Given the description of an element on the screen output the (x, y) to click on. 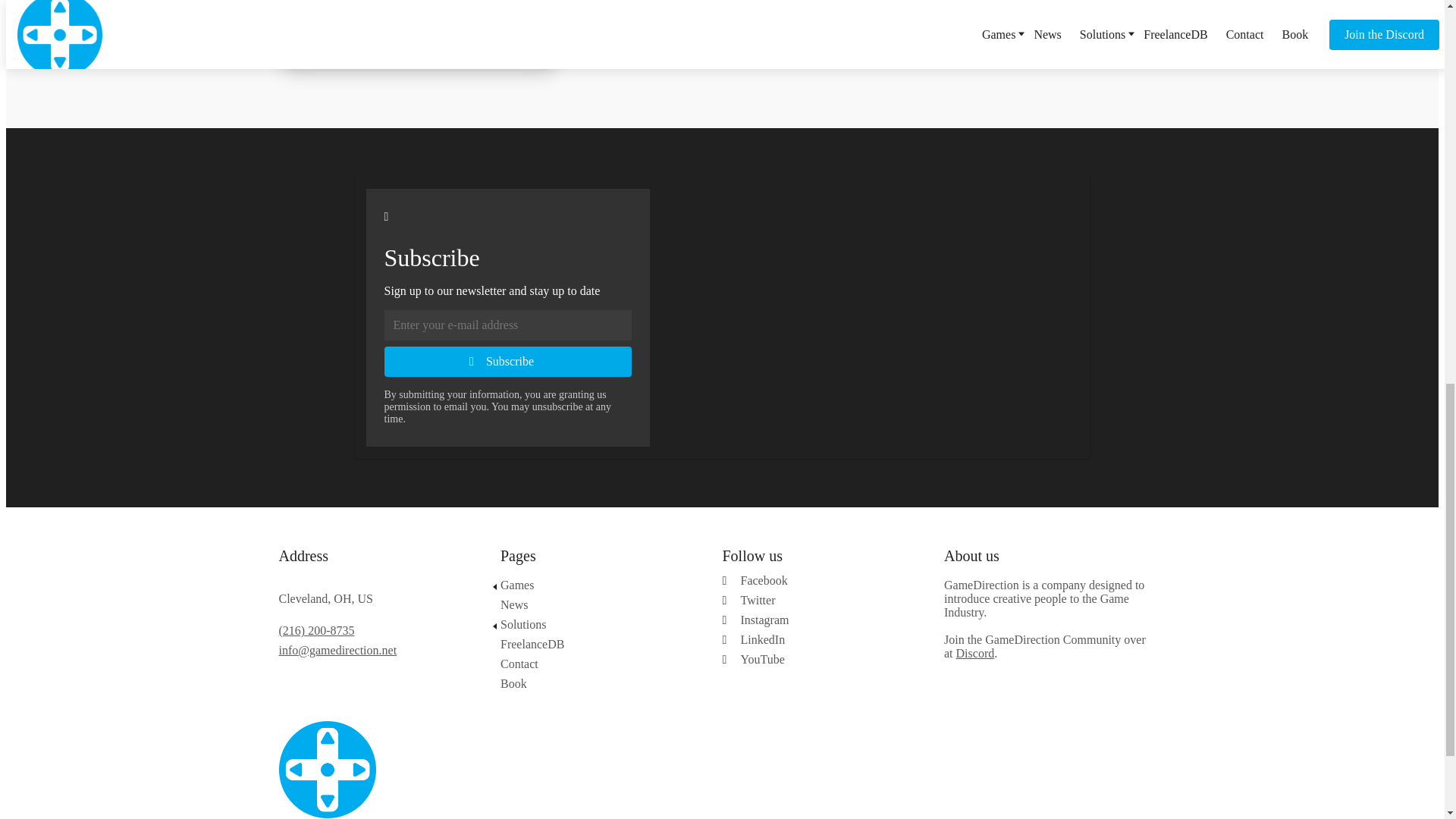
Book (596, 684)
FreelanceDB (596, 644)
Facebook (826, 581)
Twitter (826, 600)
Contact (596, 663)
News (596, 604)
Subscribe (507, 361)
Solutions (596, 624)
Games (596, 585)
